Given the description of an element on the screen output the (x, y) to click on. 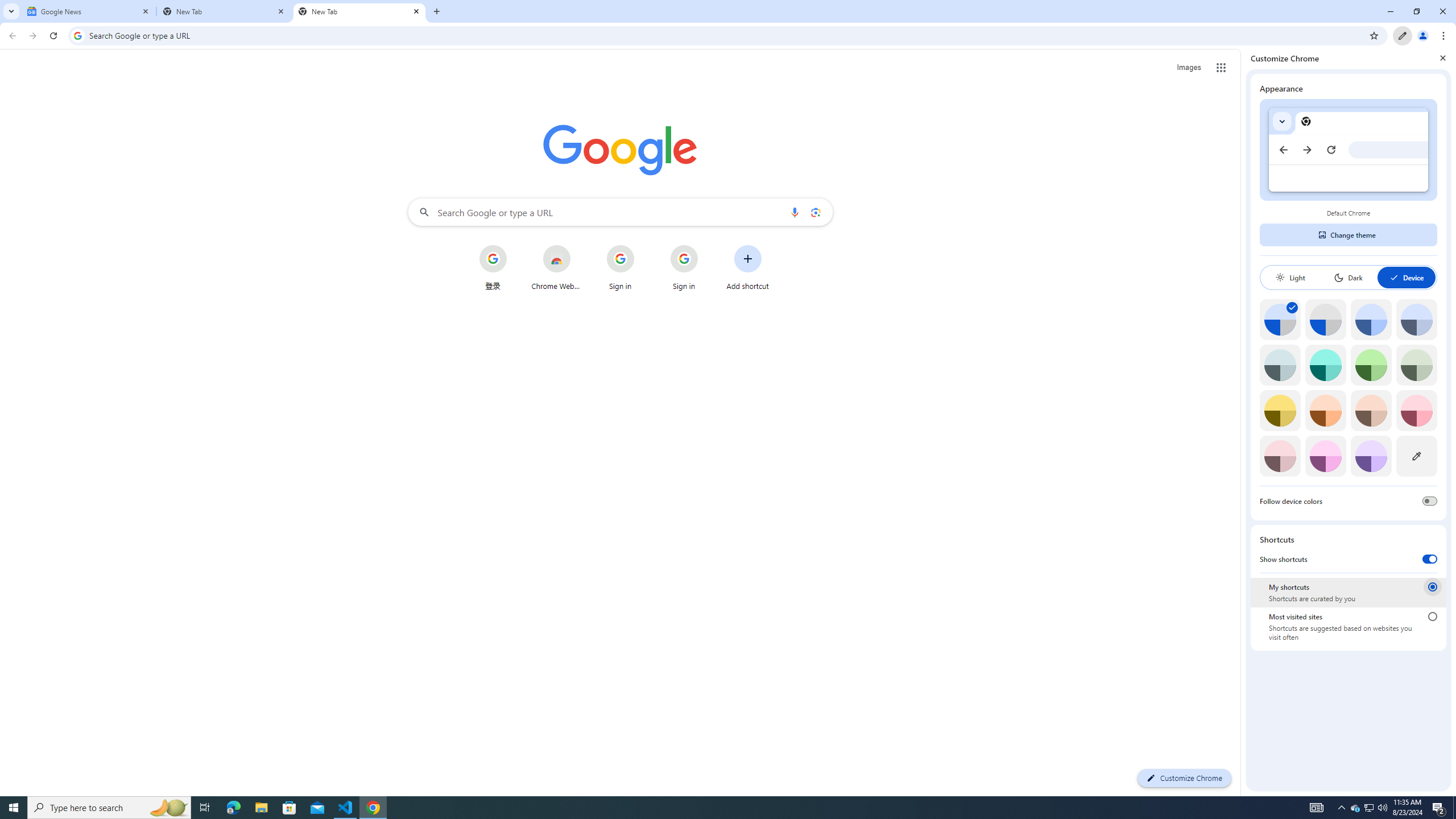
Citron (1279, 409)
Light (1289, 277)
Search for Images  (1188, 67)
Dark (1348, 277)
Cool grey (1416, 318)
Follow device colors (1429, 500)
Search by image (816, 212)
My shortcuts (1432, 586)
Add shortcut (747, 267)
